Given the description of an element on the screen output the (x, y) to click on. 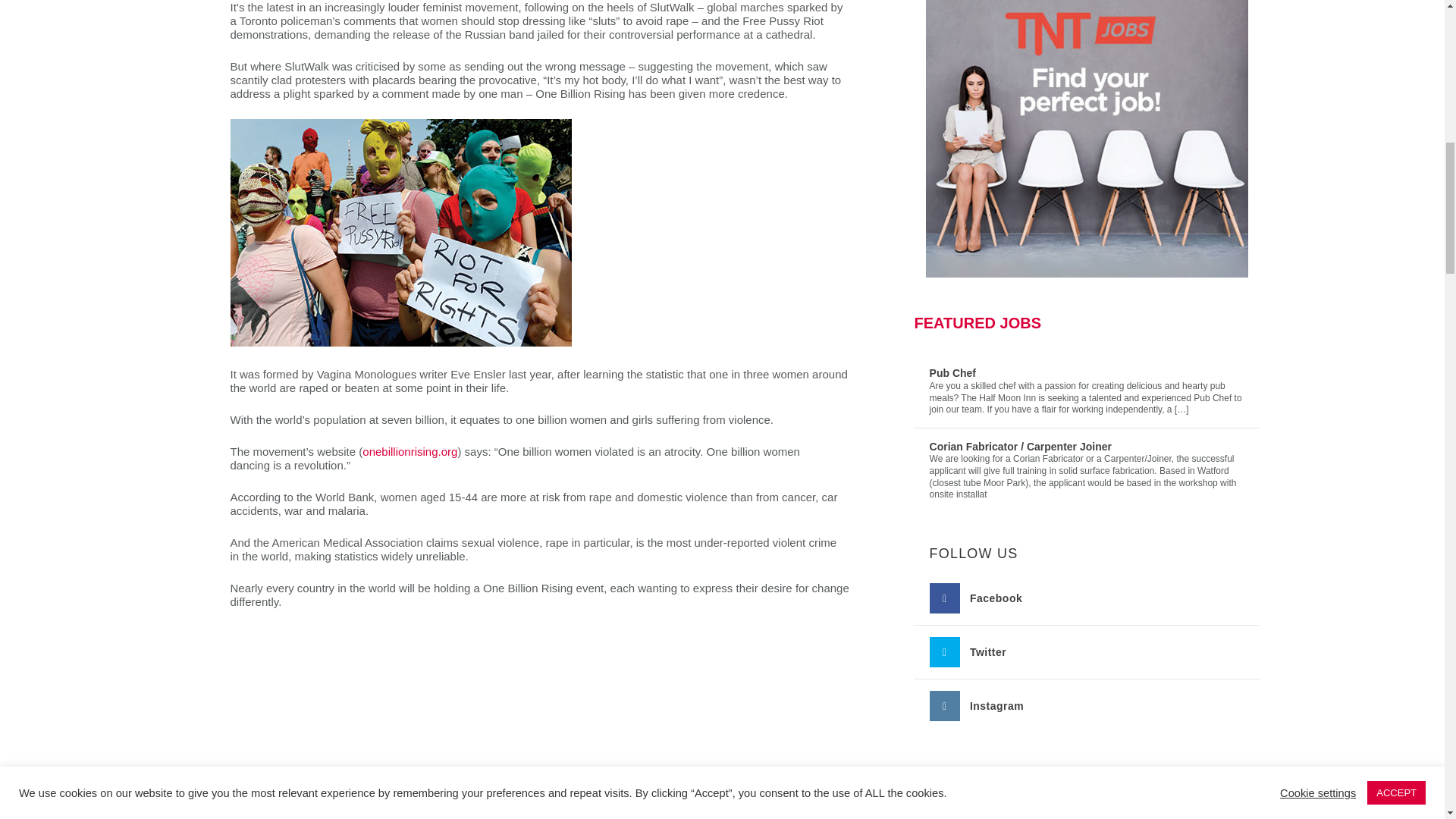
onebillionrising.org (409, 451)
